Given the description of an element on the screen output the (x, y) to click on. 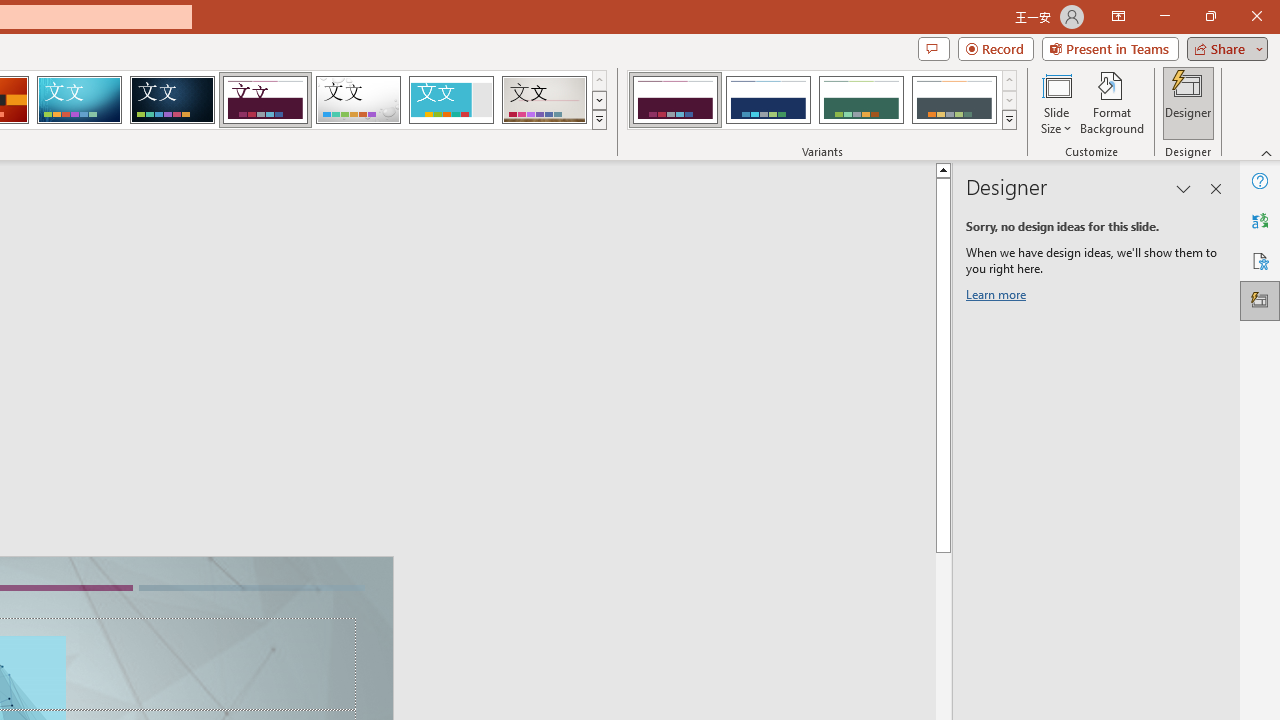
Dividend Variant 1 (674, 100)
Dividend Variant 2 (768, 100)
Droplet (358, 100)
